Given the description of an element on the screen output the (x, y) to click on. 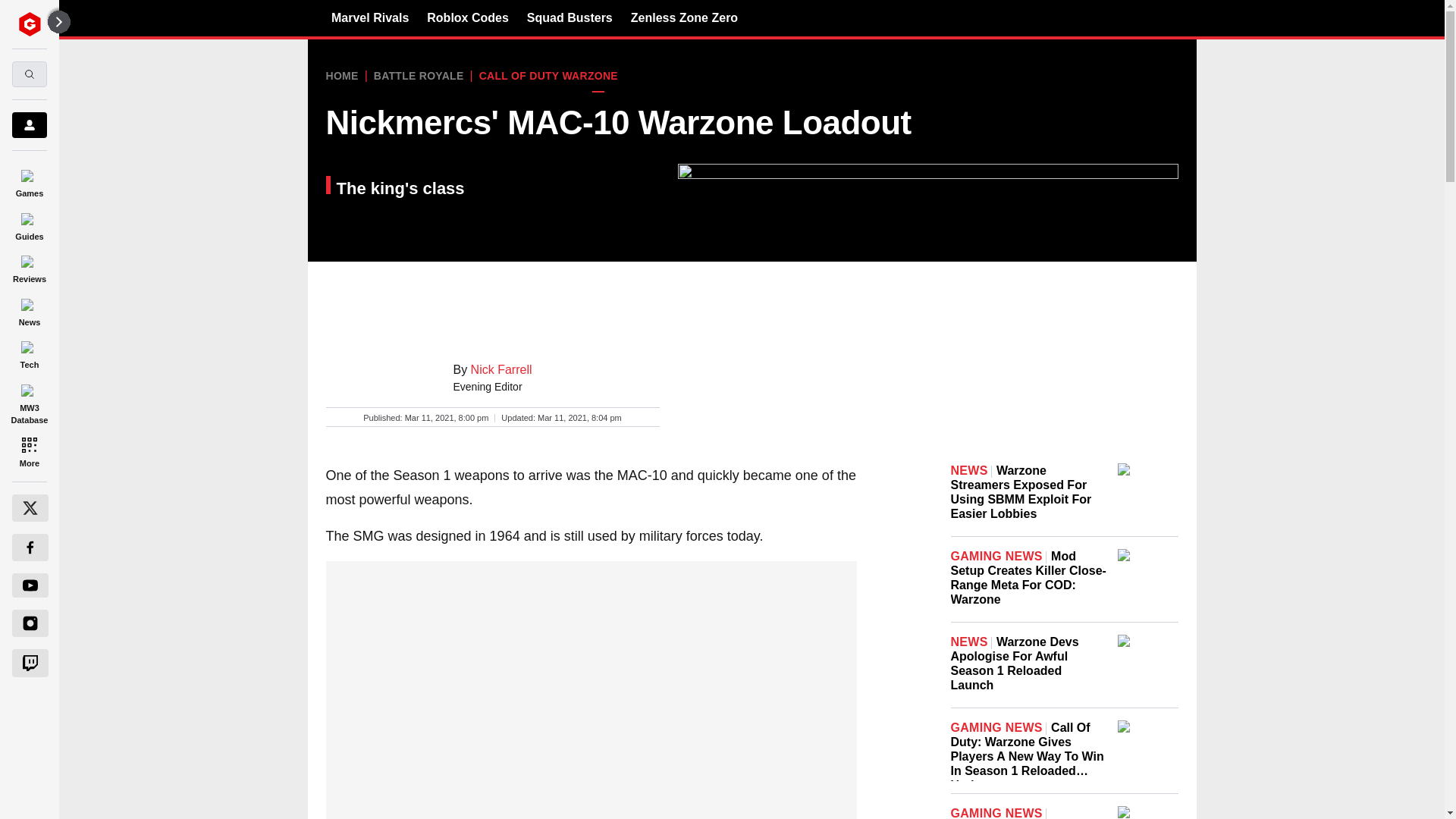
Guides (28, 224)
News (28, 309)
Roblox Codes (467, 18)
Squad Busters (569, 18)
Reviews (28, 266)
Games (28, 180)
Marvel Rivals (370, 18)
More (28, 450)
Tech (28, 352)
Zenless Zone Zero (684, 18)
